Given the description of an element on the screen output the (x, y) to click on. 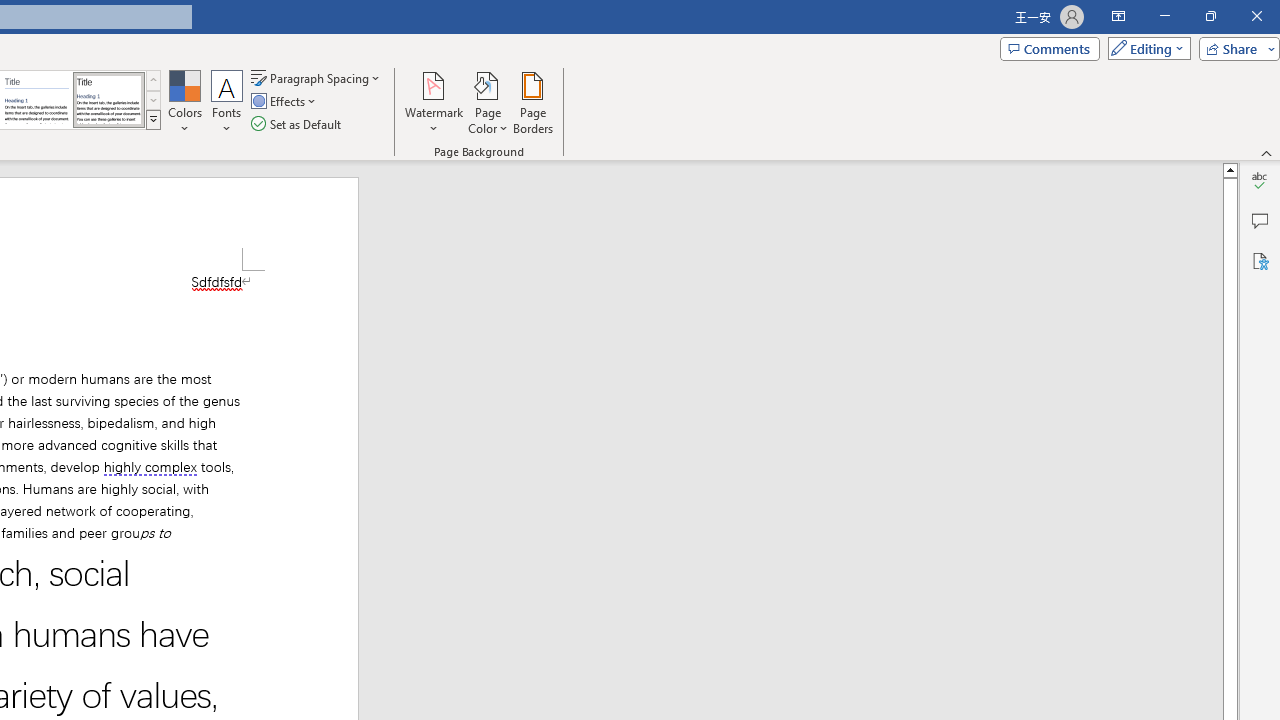
Row up (153, 79)
Close (1256, 16)
Effects (285, 101)
Comments (1049, 48)
Set as Default (298, 124)
Editor (1260, 180)
Minimize (1164, 16)
Class: NetUIImage (153, 119)
Editing (1144, 47)
Word 2010 (36, 100)
Paragraph Spacing (317, 78)
